Given the description of an element on the screen output the (x, y) to click on. 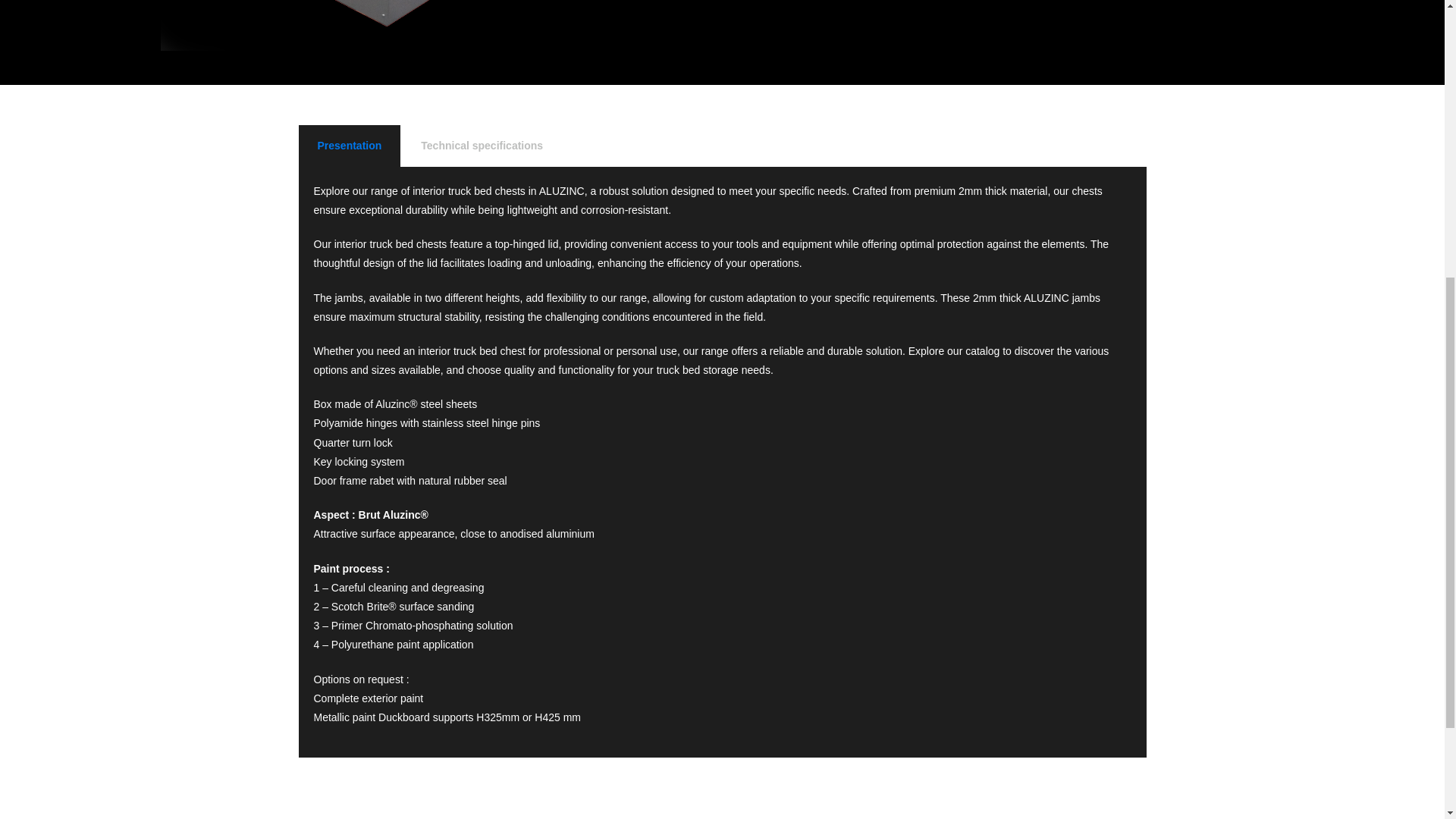
Accessories (925, 316)
Legal notices (1150, 316)
Our boxes (870, 316)
Latest News (1088, 316)
About Neorali (812, 316)
Contact (1037, 316)
Quote online (985, 316)
Home (762, 316)
